Given the description of an element on the screen output the (x, y) to click on. 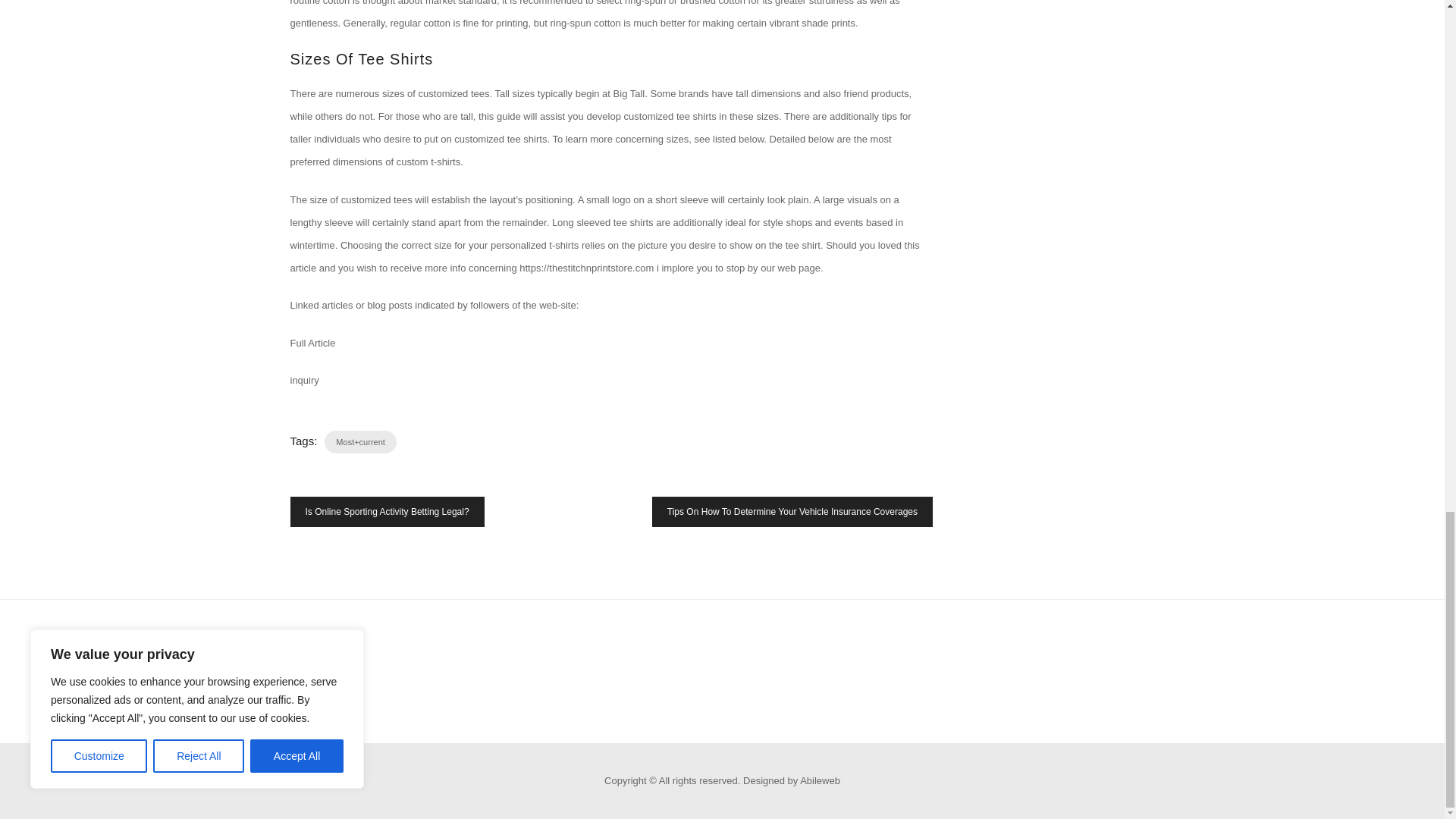
inquiry (303, 379)
Full Article (311, 342)
Is Online Sporting Activity Betting Legal? (386, 511)
Linked articles (320, 305)
Tips On How To Determine Your Vehicle Insurance Coverages (792, 511)
